Given the description of an element on the screen output the (x, y) to click on. 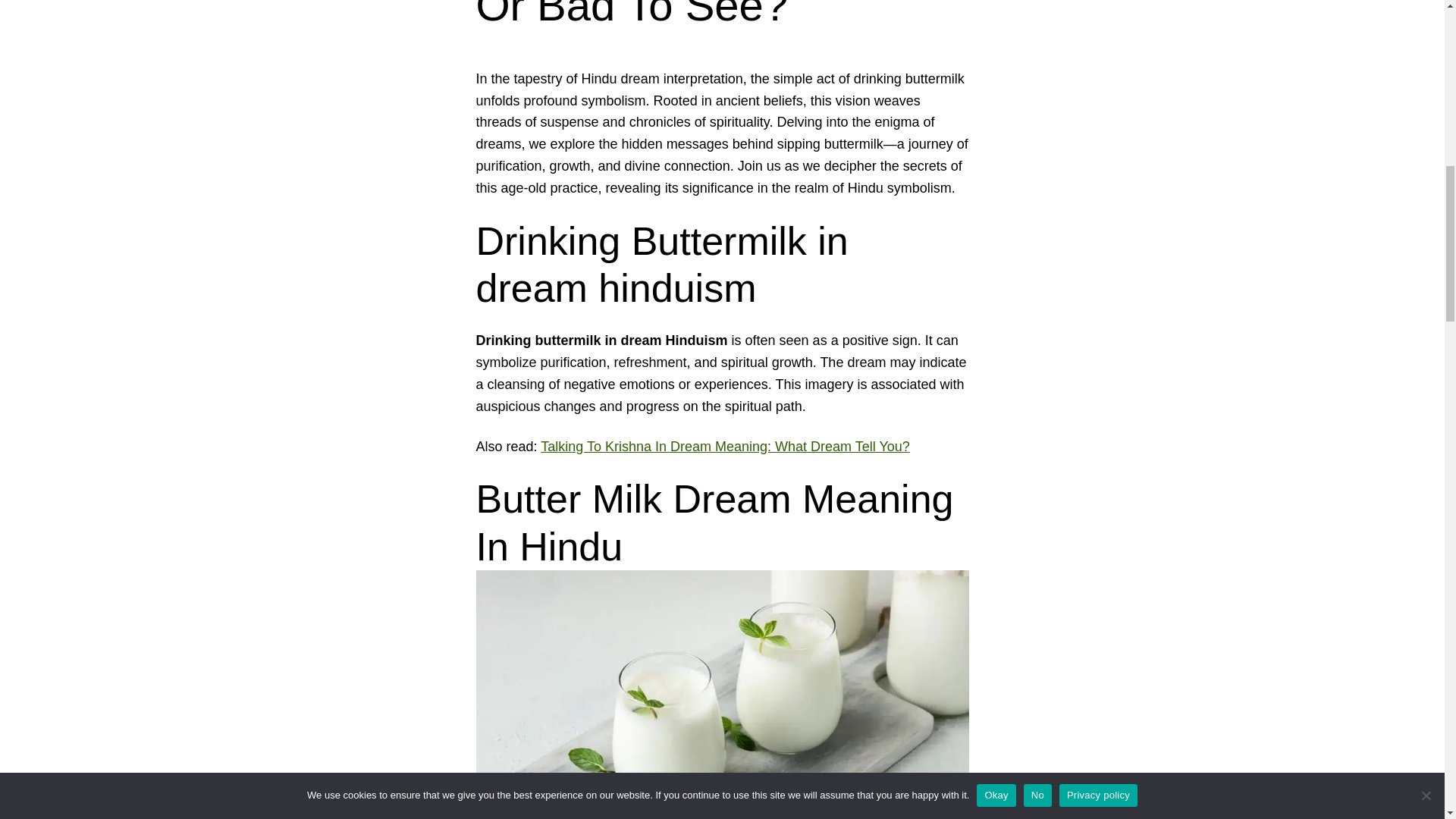
Talking To Krishna In Dream Meaning: What Dream Tell You? (725, 446)
